Given the description of an element on the screen output the (x, y) to click on. 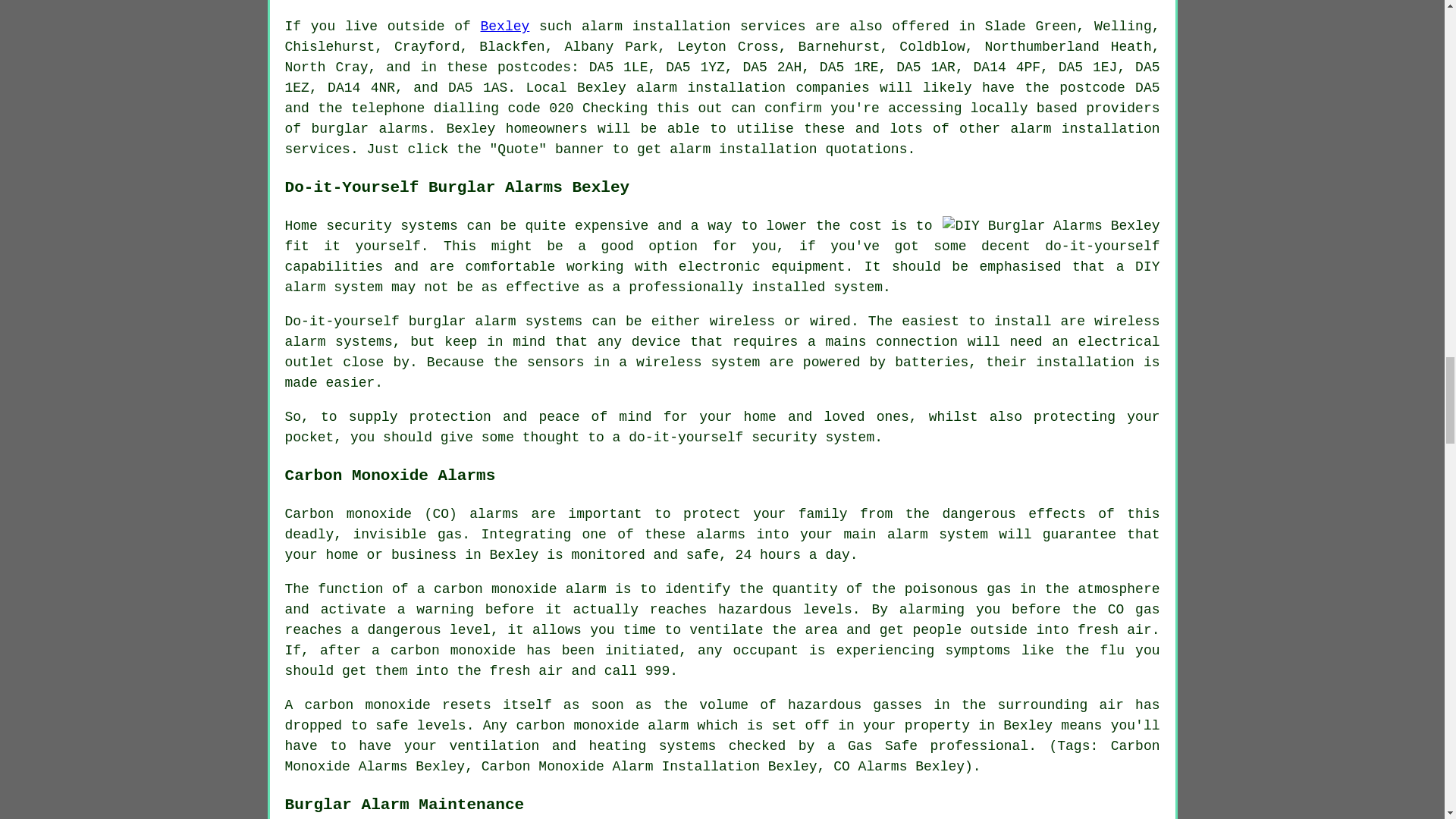
alarm installation companies (752, 87)
alarm (601, 26)
DIY Burglar Alarms Bexley (1050, 226)
alarm installation (742, 149)
